Given the description of an element on the screen output the (x, y) to click on. 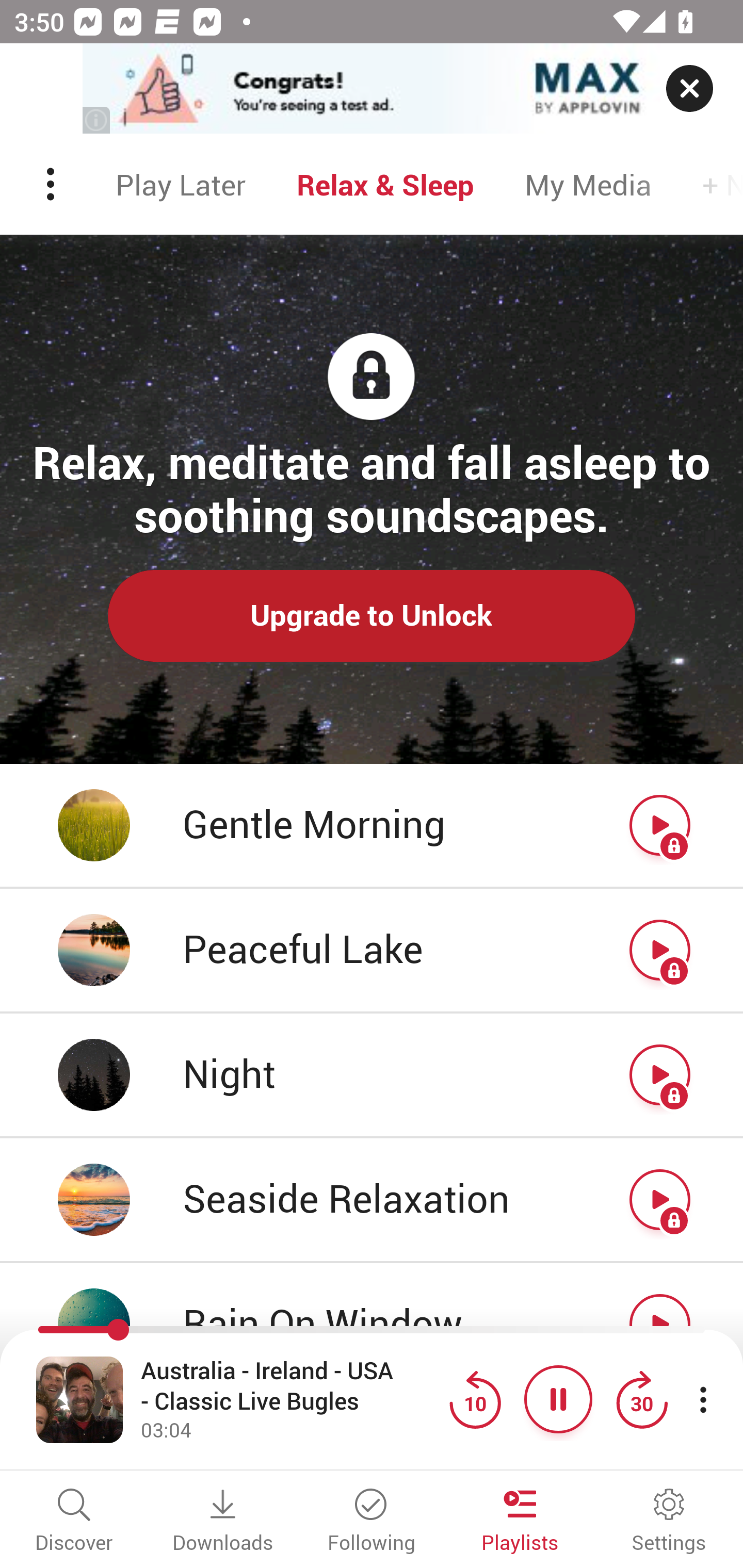
app-monetization (371, 88)
(i) (96, 119)
Menu (52, 184)
Play Later (180, 184)
Relax & Sleep (385, 184)
My Media (587, 184)
Upgrade to Unlock (371, 615)
Gentle Morning Play button (371, 826)
Peaceful Lake Play button (371, 950)
Night Play button (371, 1075)
Seaside Relaxation Play button (371, 1200)
Open fullscreen player (79, 1399)
More player controls (703, 1399)
Australia - Ireland - USA - Classic Live Bugles (290, 1385)
Pause button (558, 1398)
Jump back (475, 1399)
Jump forward (641, 1399)
Discover (74, 1521)
Downloads (222, 1521)
Following (371, 1521)
Playlists (519, 1521)
Settings (668, 1521)
